Given the description of an element on the screen output the (x, y) to click on. 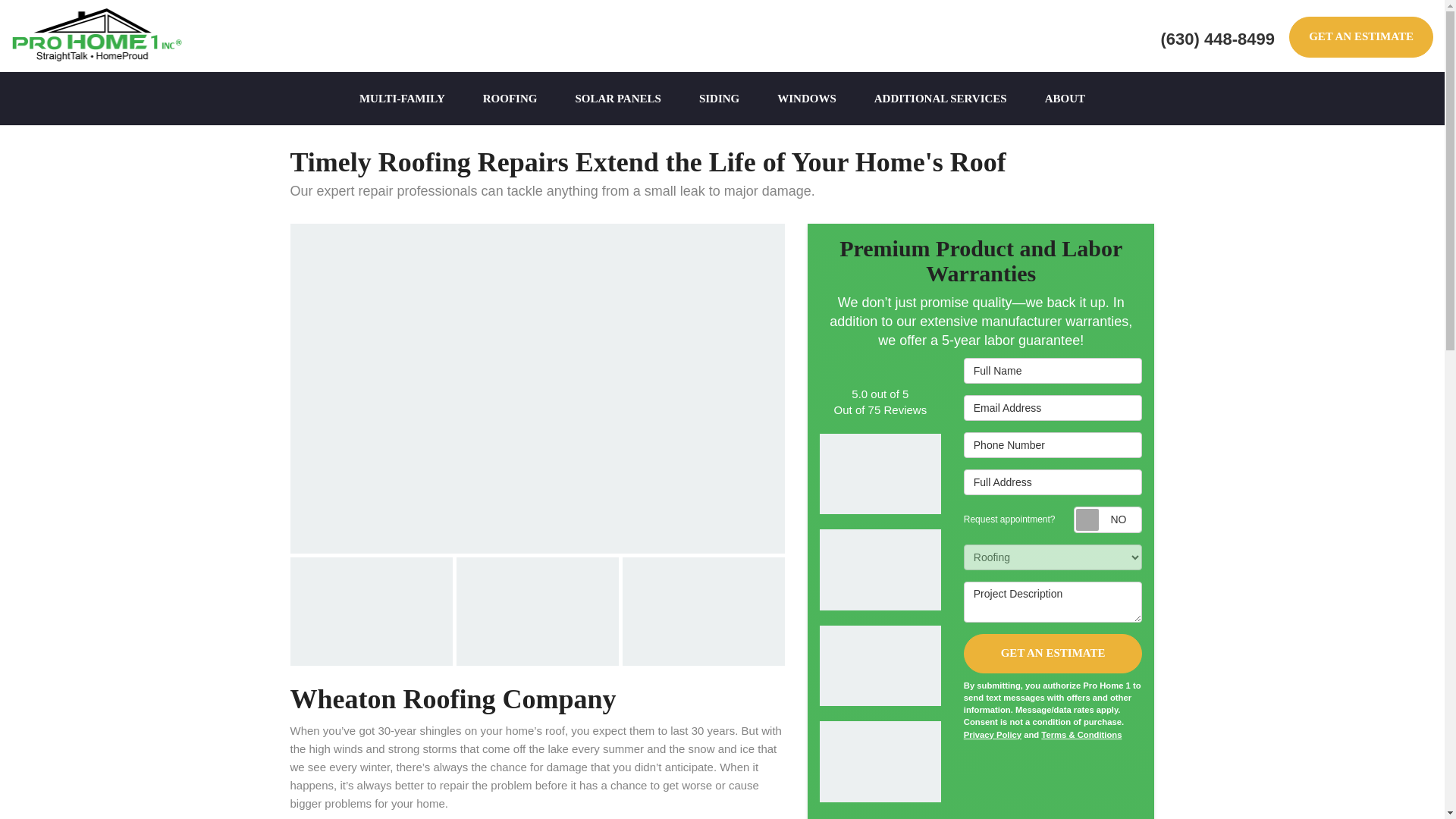
WINDOWS (807, 98)
GET AN ESTIMATE (1360, 36)
SOLAR PANELS (617, 98)
ROOFING (510, 98)
SIDING (718, 98)
MULTI-FAMILY (402, 98)
GET AN ESTIMATE (1360, 36)
